Given the description of an element on the screen output the (x, y) to click on. 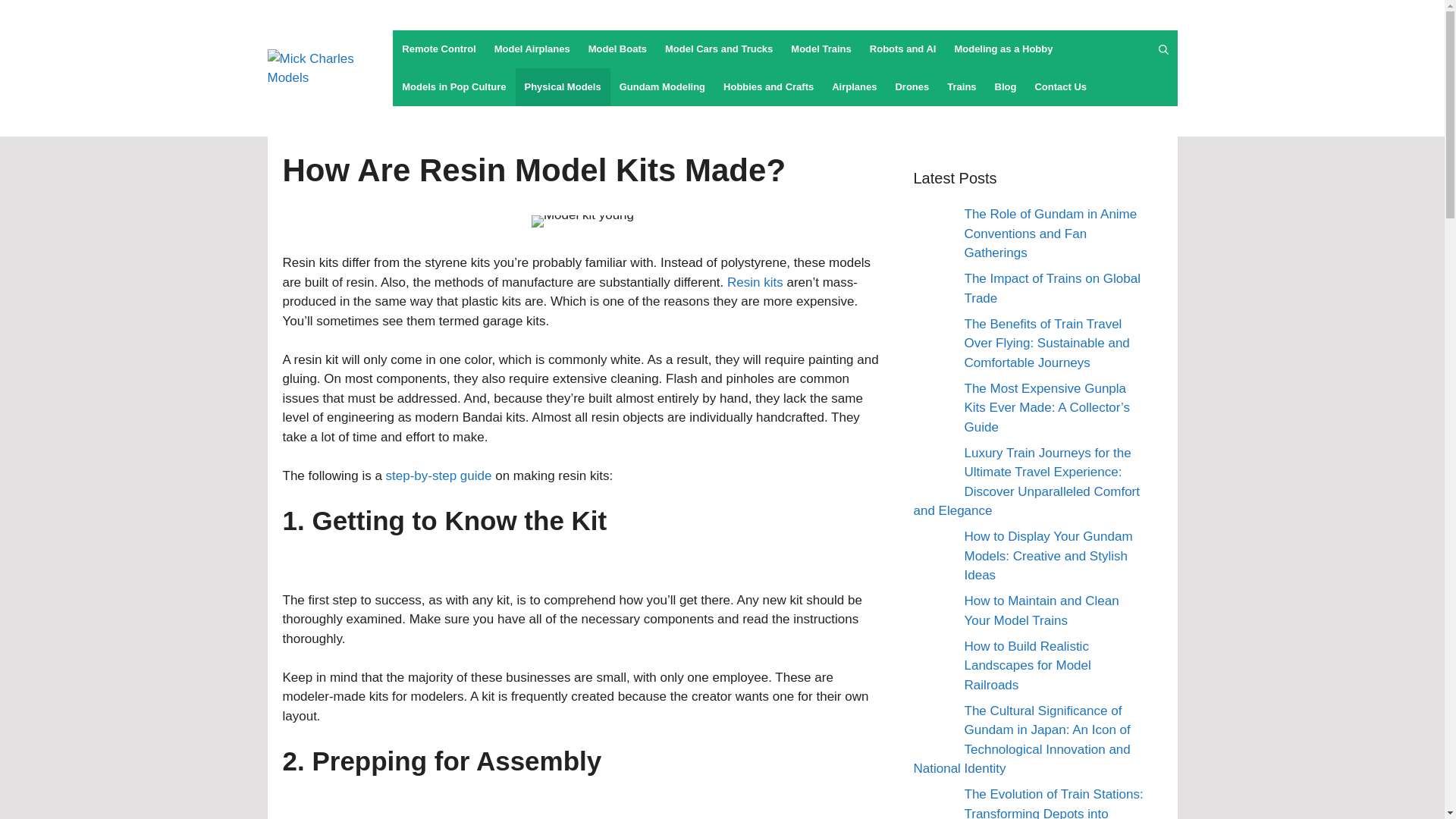
Model Boats (617, 48)
How to Maintain and Clean Your Model Trains (1041, 610)
Drones (911, 86)
Model Airplanes (531, 48)
Physical Models (562, 86)
Gundam Modeling (662, 86)
Trains (961, 86)
Models in Pop Culture (454, 86)
The Role of Gundam in Anime Conventions and Fan Gatherings (1050, 233)
Model Trains (820, 48)
Contact Us (1060, 86)
Robots and AI (902, 48)
step-by-step guide (438, 475)
